Given the description of an element on the screen output the (x, y) to click on. 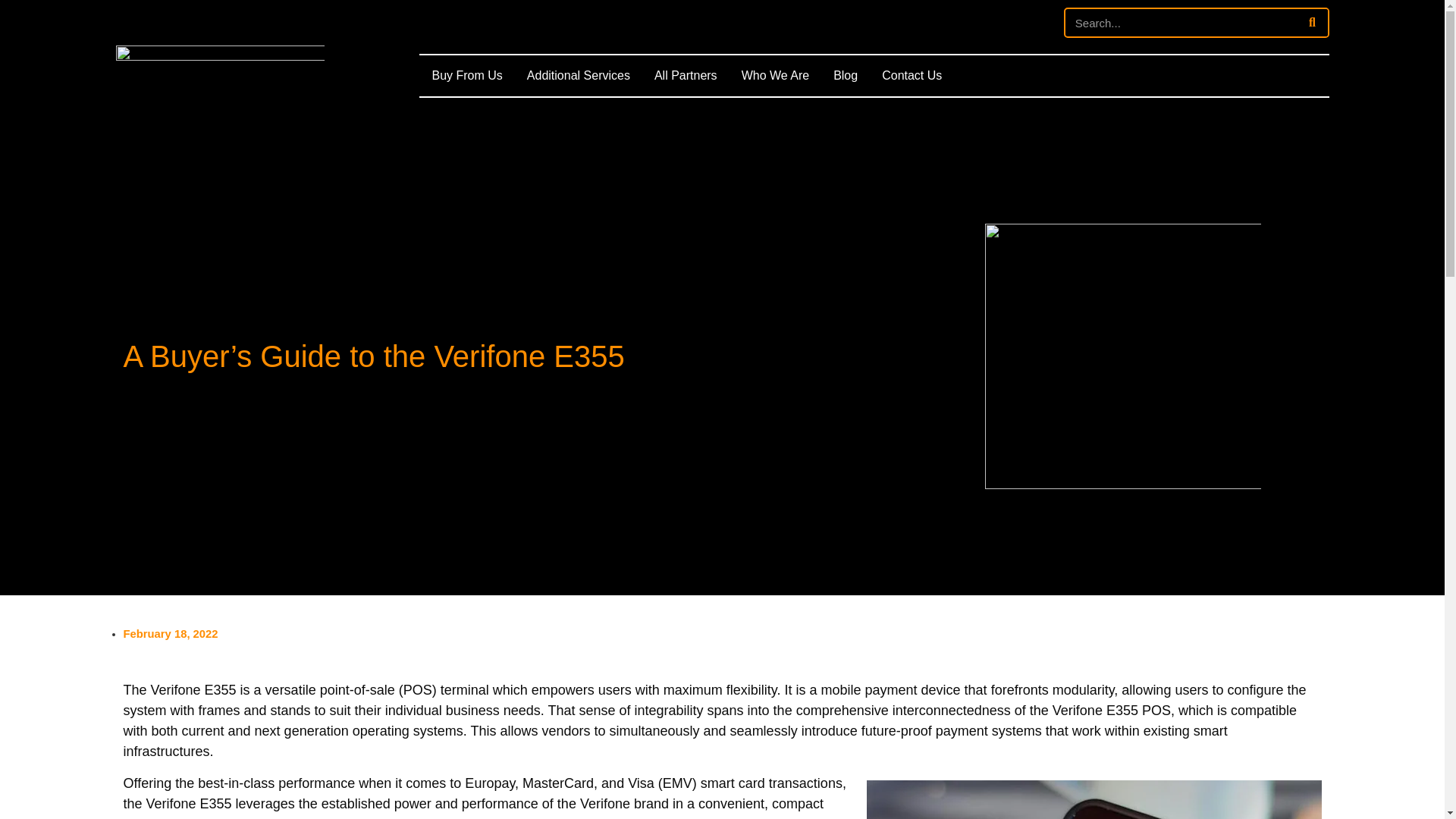
Buy From Us (466, 75)
Additional Services (578, 75)
All Partners (686, 75)
Blog (845, 75)
Contact Us (911, 75)
Who We Are (775, 75)
